Given the description of an element on the screen output the (x, y) to click on. 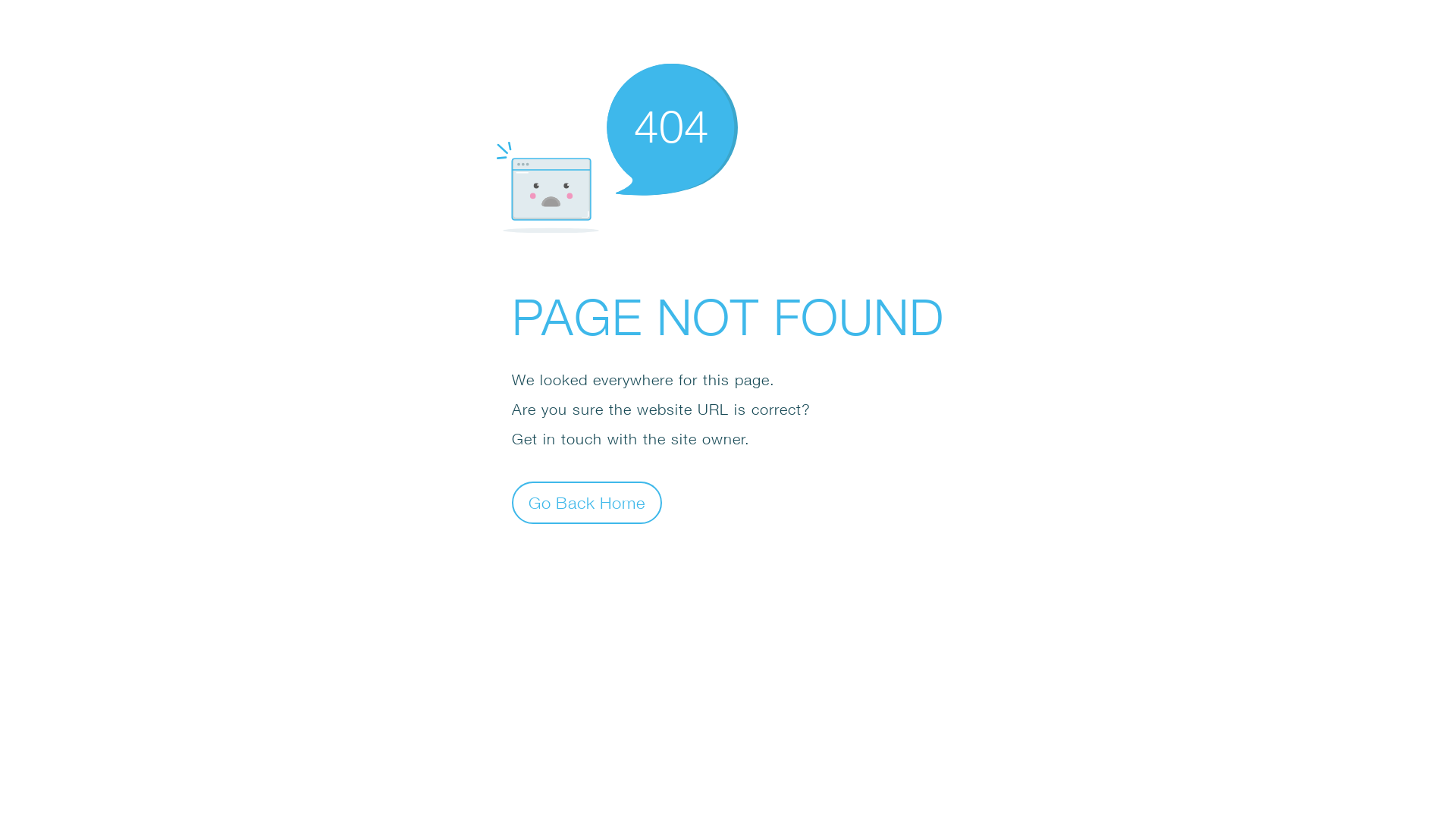
Go Back Home Element type: text (586, 502)
